Given the description of an element on the screen output the (x, y) to click on. 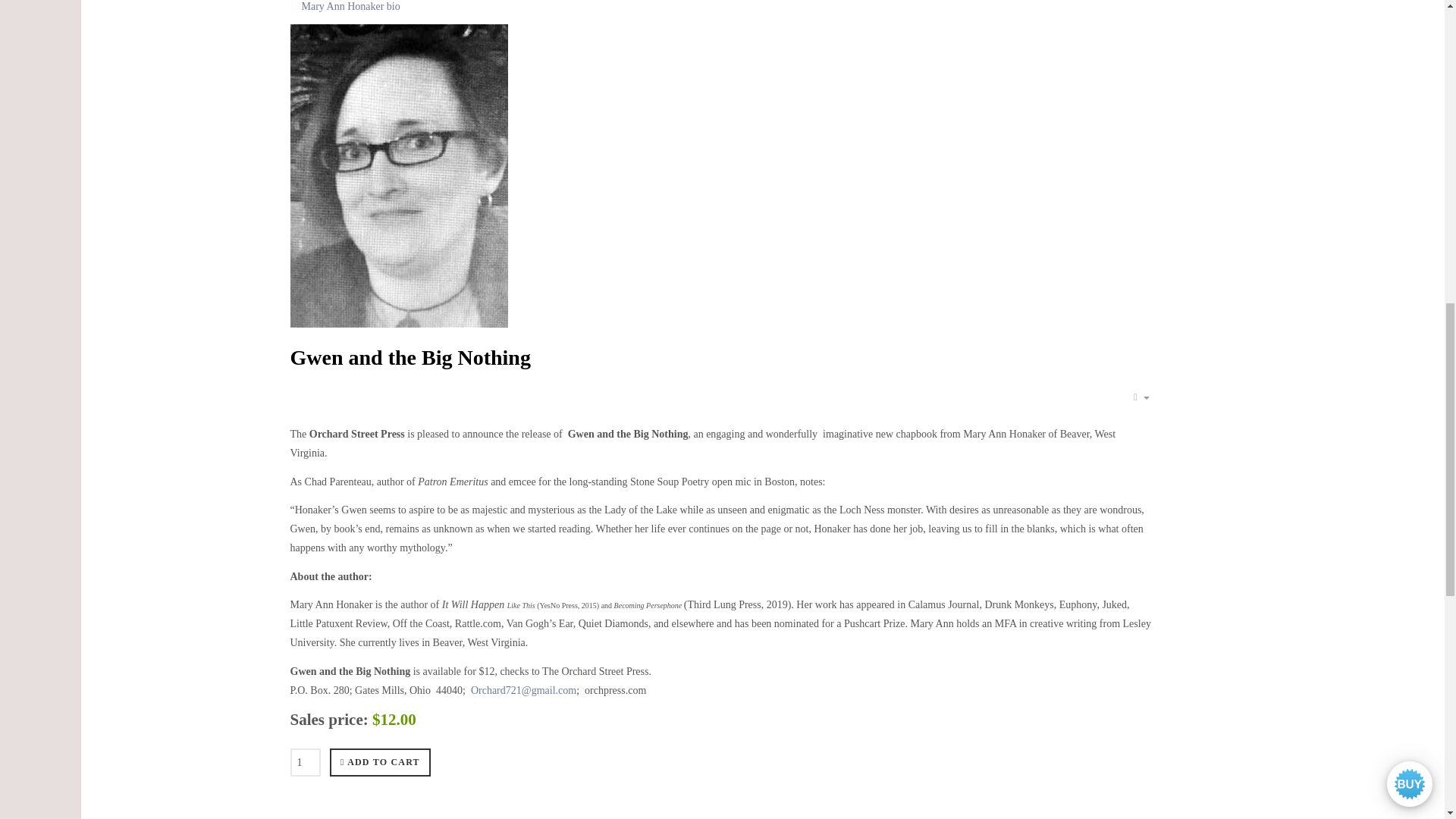
Gwen and the Big Nothing (409, 357)
EMPTY (1141, 397)
1 (304, 762)
Mary Ann Honaker bio (721, 12)
Gwen and the Big Nothing  (409, 357)
